Given the description of an element on the screen output the (x, y) to click on. 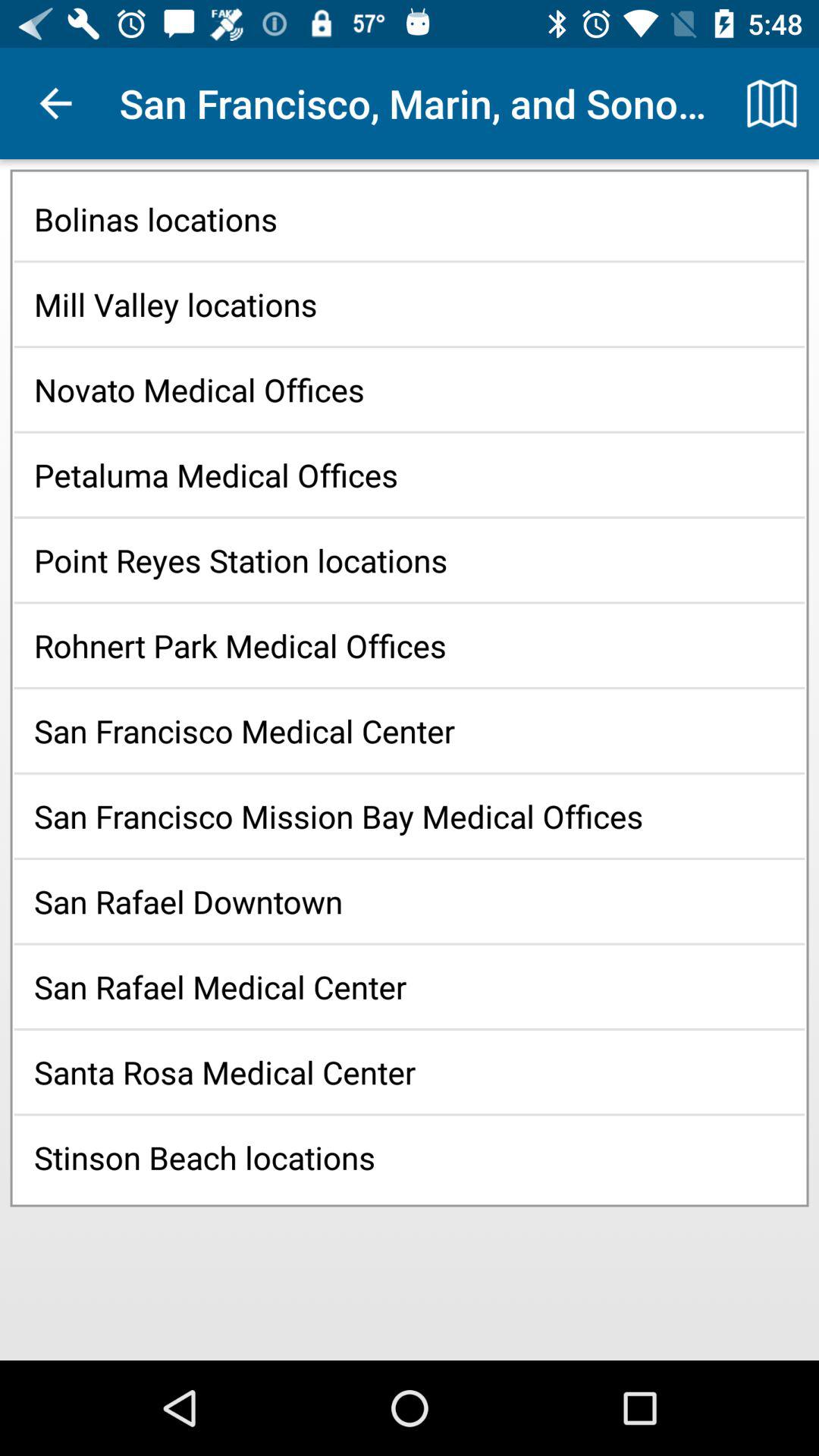
open the icon above rohnert park medical (409, 559)
